Given the description of an element on the screen output the (x, y) to click on. 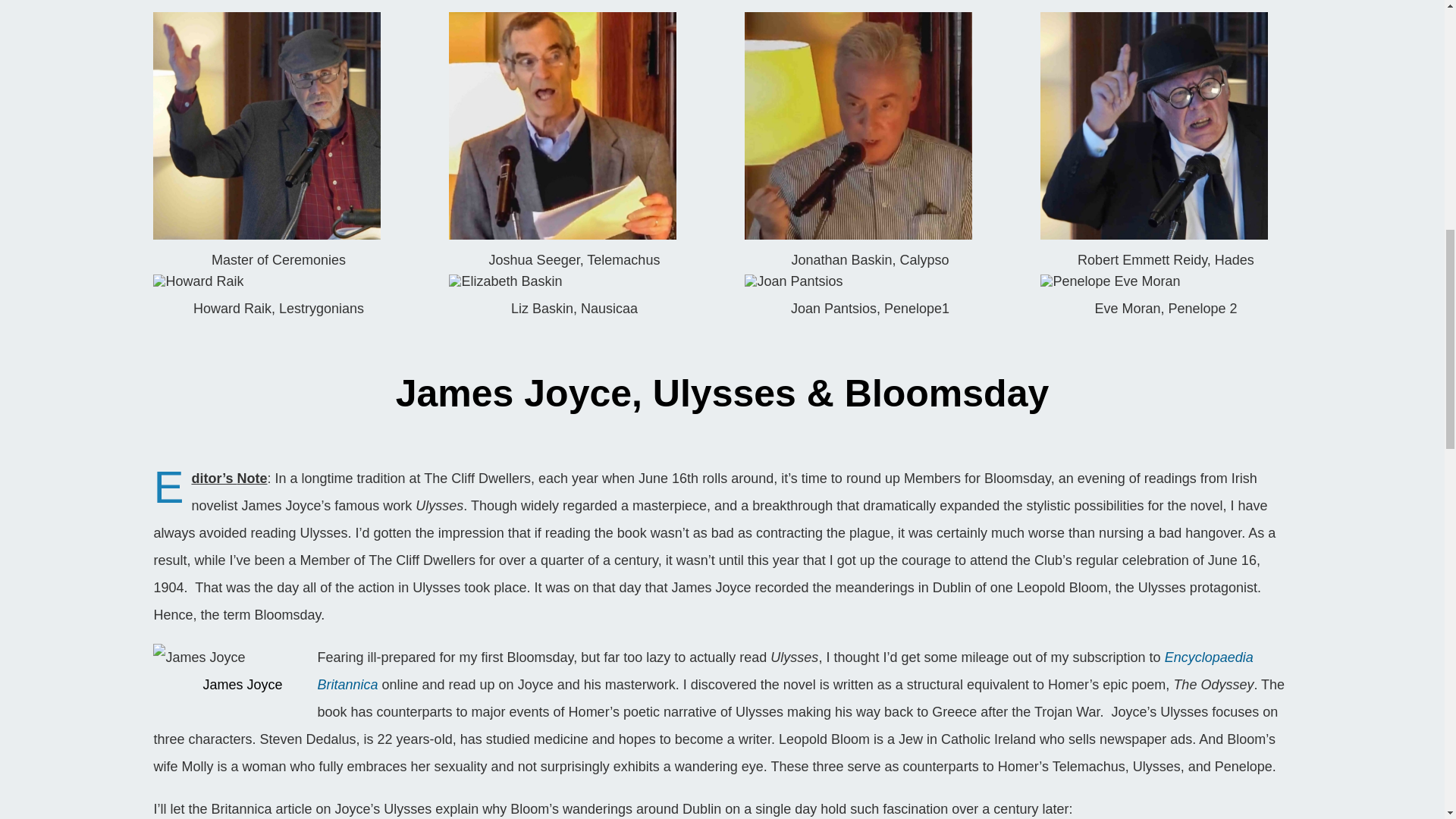
Encyclopaedia Britannica (784, 671)
